Given the description of an element on the screen output the (x, y) to click on. 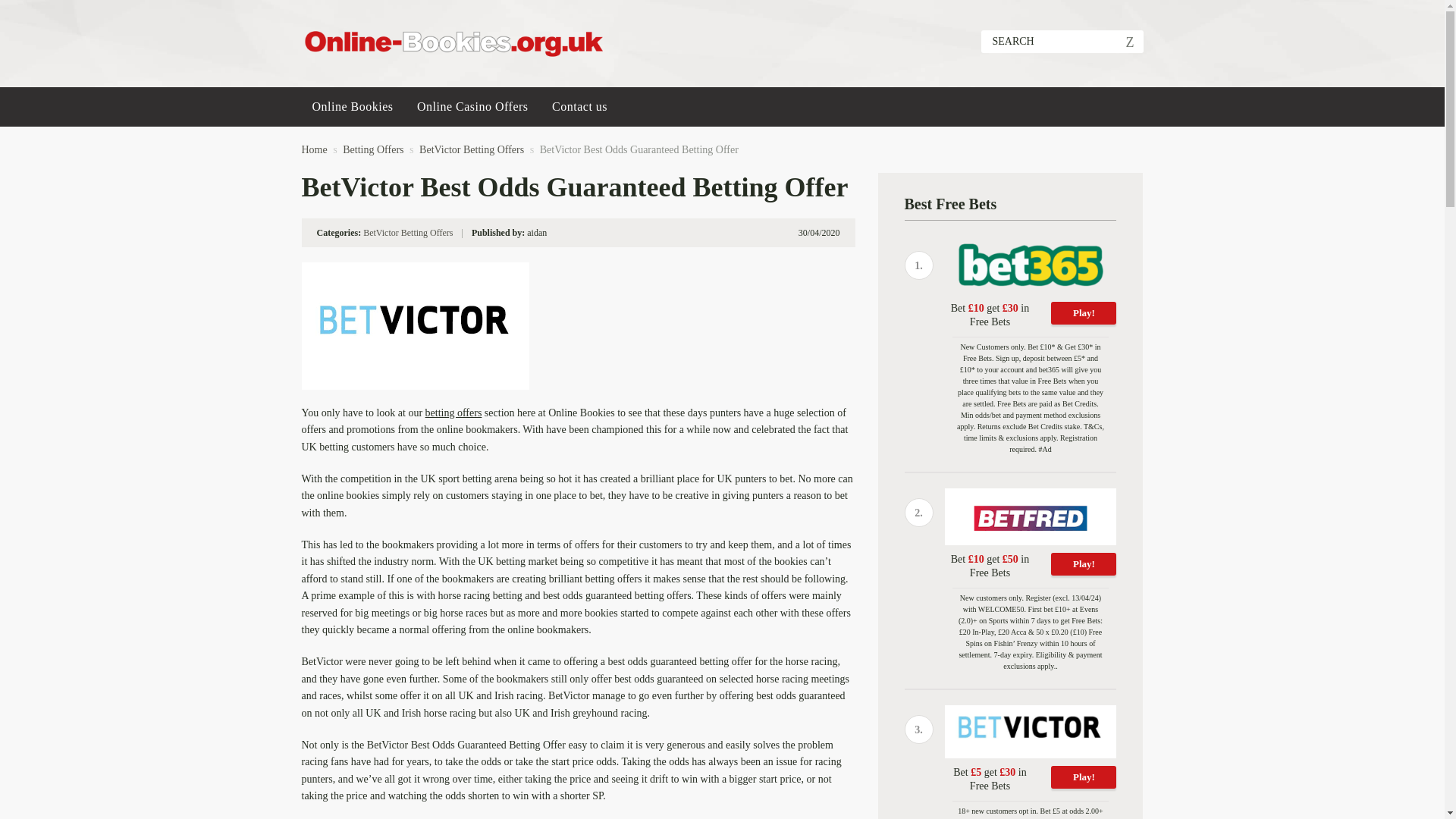
Play! (1083, 313)
BetVictor Betting Offers (407, 232)
Home (314, 149)
betting offers (453, 412)
BetVictor Best Odds Guaranteed Betting Offer (639, 149)
Betting Offers (372, 149)
Online Bookies (353, 106)
Betting Offers (372, 149)
BetVictor Betting Offers (471, 149)
Play! (1083, 776)
Contact us (579, 106)
Play! (1083, 563)
